Given the description of an element on the screen output the (x, y) to click on. 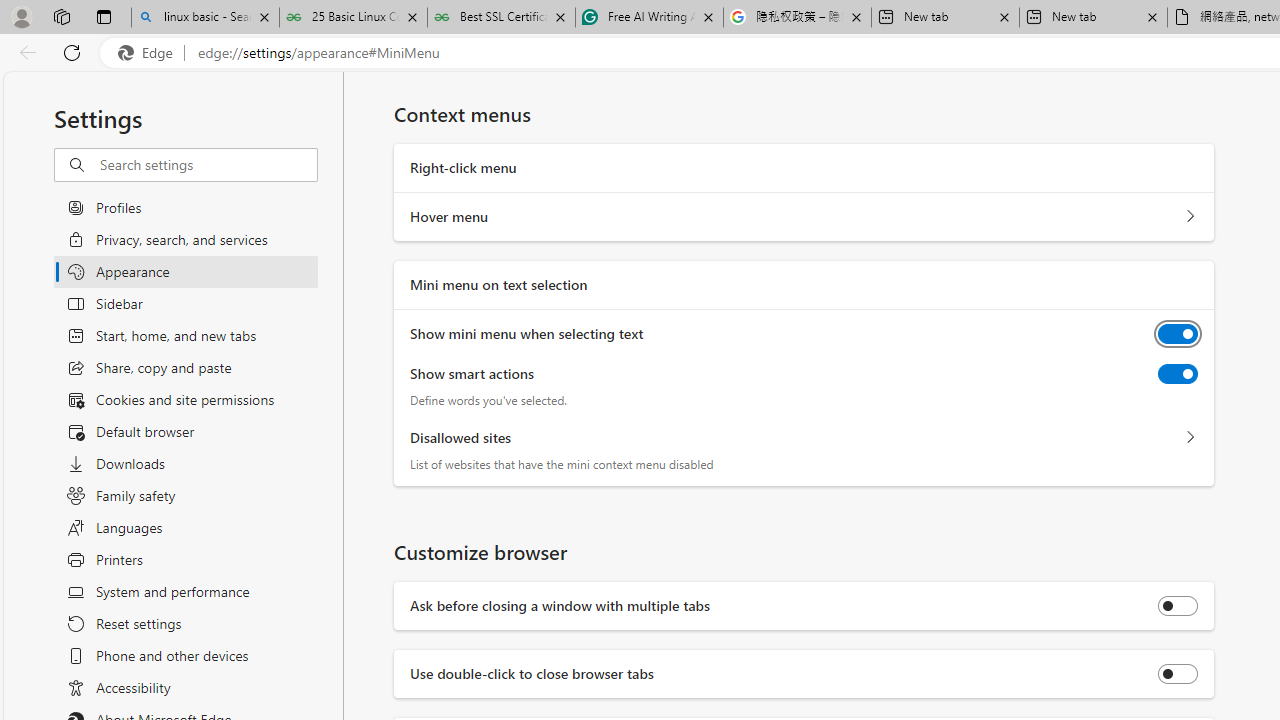
Ask before closing a window with multiple tabs (1178, 606)
Free AI Writing Assistance for Students | Grammarly (649, 17)
Show mini menu when selecting text (1178, 334)
Hover menu (1190, 216)
Use double-click to close browser tabs (1178, 673)
linux basic - Search (205, 17)
Best SSL Certificates Provider in India - GeeksforGeeks (500, 17)
